Given the description of an element on the screen output the (x, y) to click on. 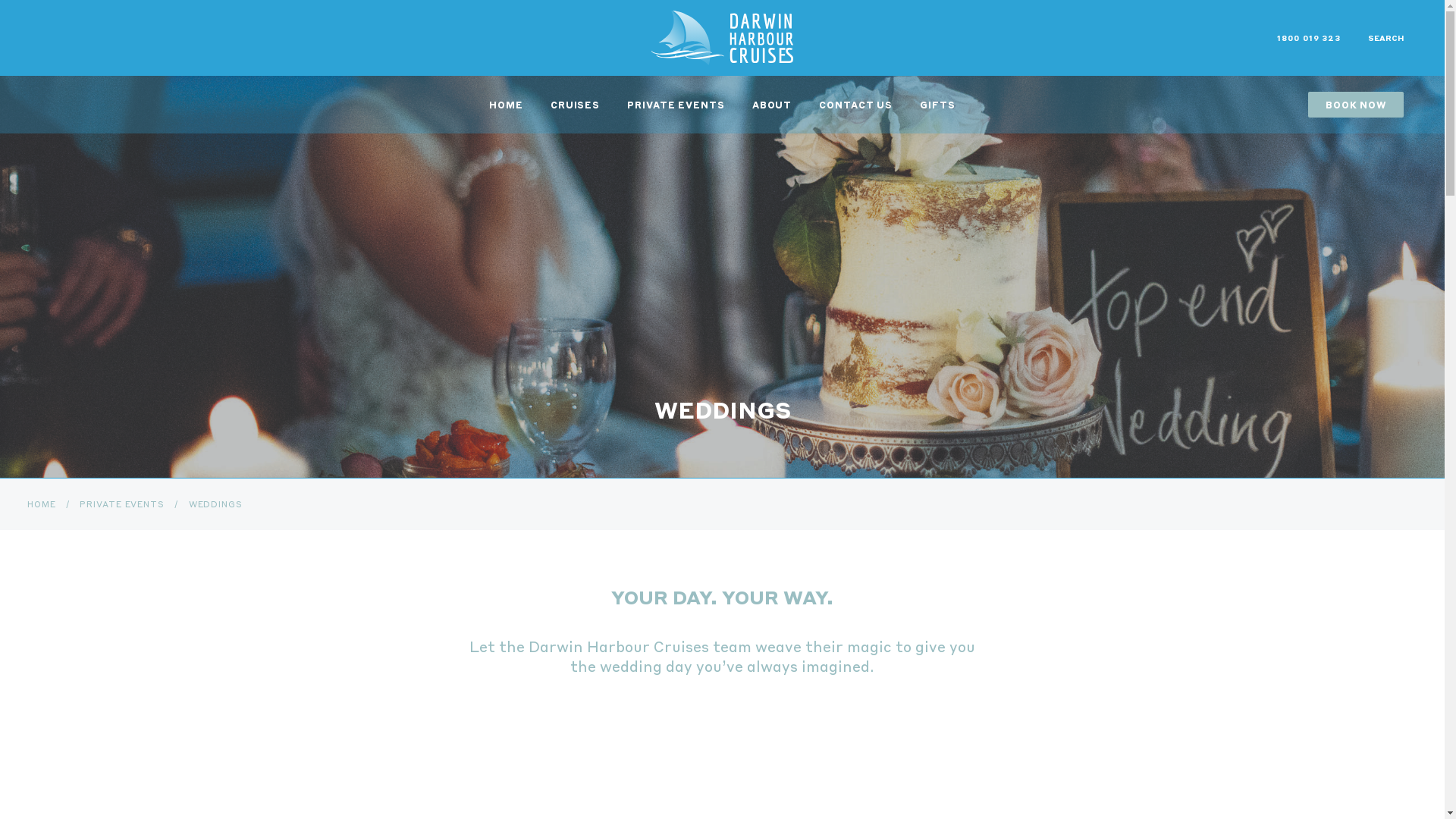
1800 019 323 Element type: text (1308, 37)
SEARCH Element type: text (1385, 37)
ABOUT Element type: text (772, 104)
CRUISES Element type: text (574, 104)
PRIVATE EVENTS Element type: text (121, 503)
GIFTS Element type: text (937, 104)
PRIVATE EVENTS Element type: text (675, 104)
BOOK NOW Element type: text (1355, 104)
CONTACT US Element type: text (855, 104)
HOME Element type: text (41, 503)
HOME Element type: text (505, 104)
